Given the description of an element on the screen output the (x, y) to click on. 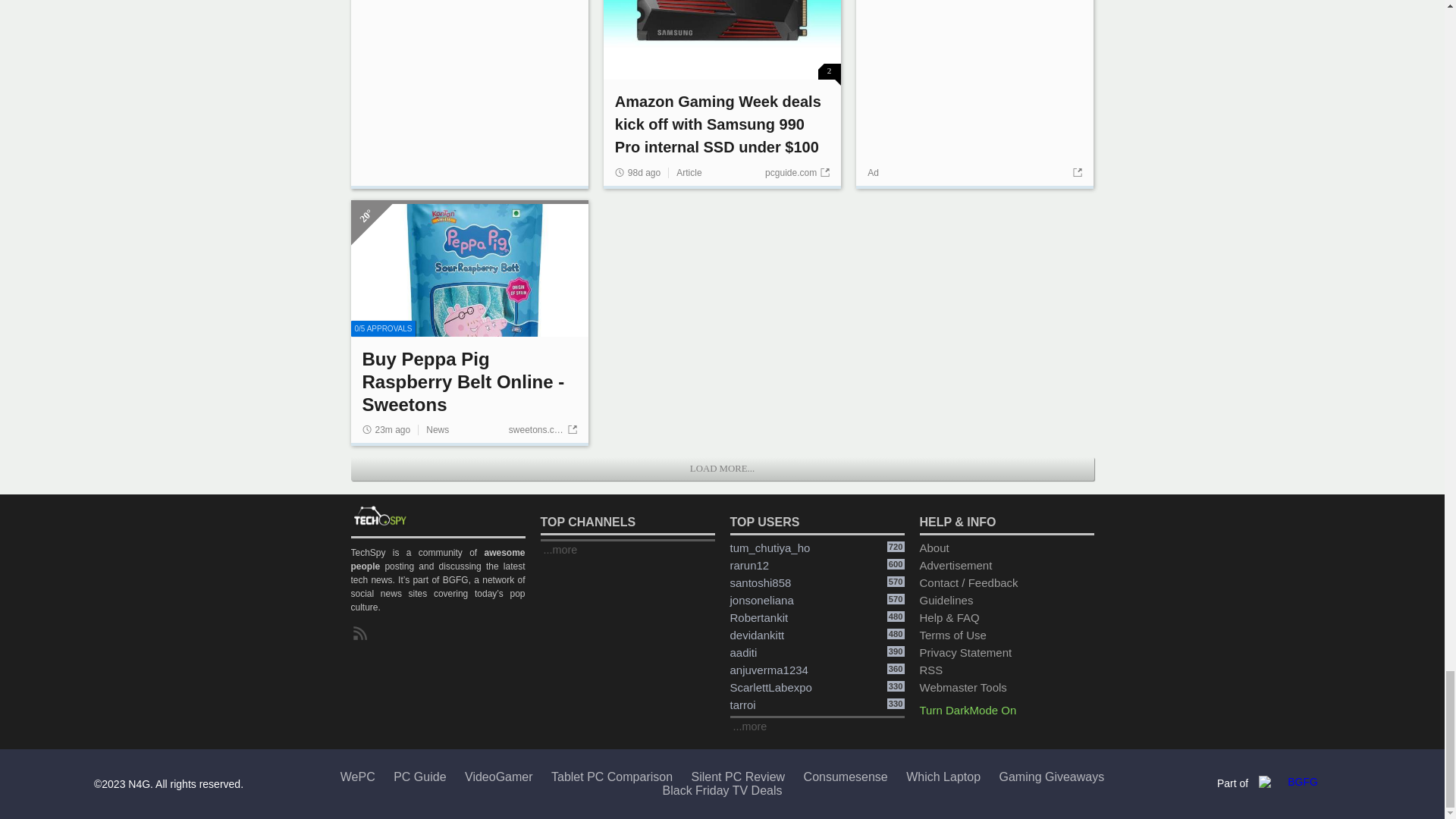
RSS Feed (362, 633)
Go to source: pcguide.com (797, 172)
Go to source (1074, 172)
Go to source: sweetons.com (542, 429)
